Given the description of an element on the screen output the (x, y) to click on. 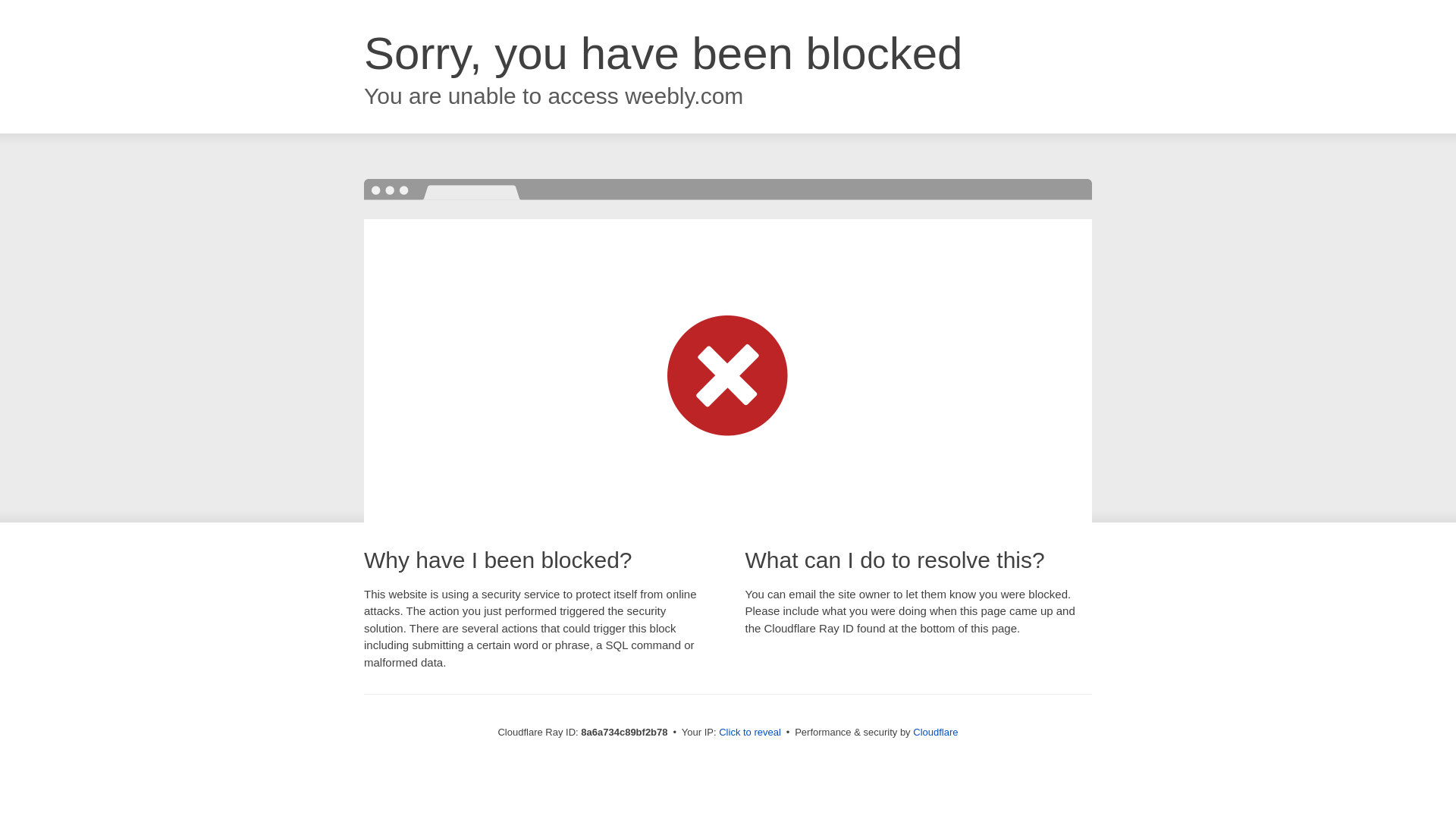
Cloudflare (935, 731)
Click to reveal (749, 732)
